Given the description of an element on the screen output the (x, y) to click on. 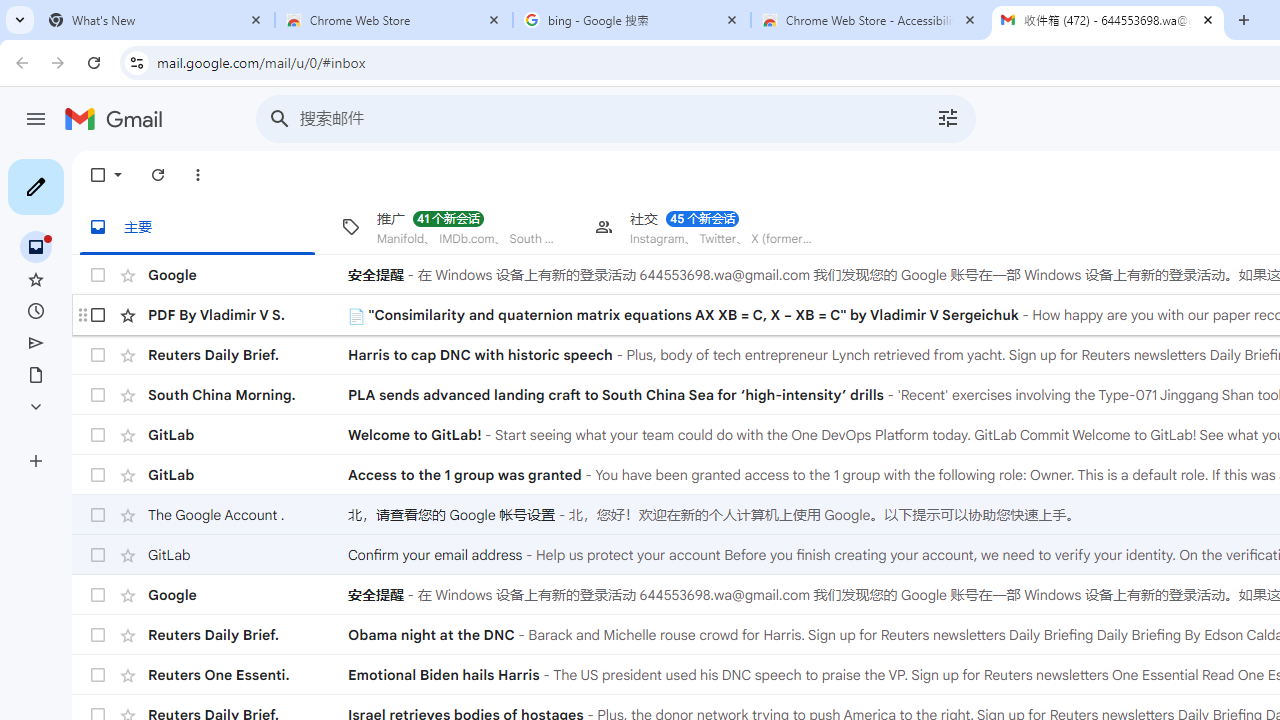
Chrome Web Store - Accessibility (870, 20)
What's New (156, 20)
GitLab (248, 555)
